Given the description of an element on the screen output the (x, y) to click on. 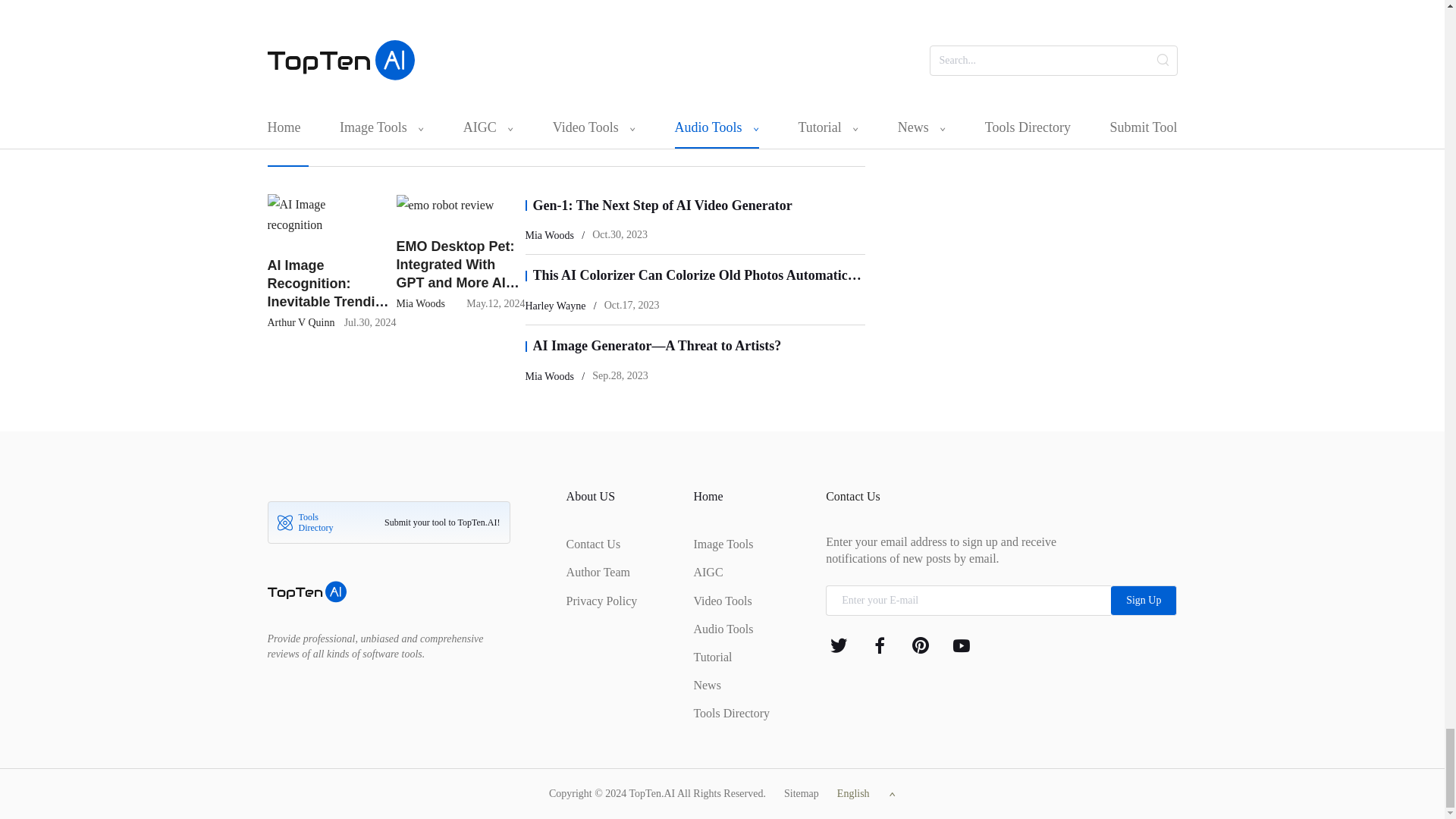
Top 10 Best Anime Character Creator to Make Anime Waifu (327, 11)
Harley Wayne (296, 18)
